Given the description of an element on the screen output the (x, y) to click on. 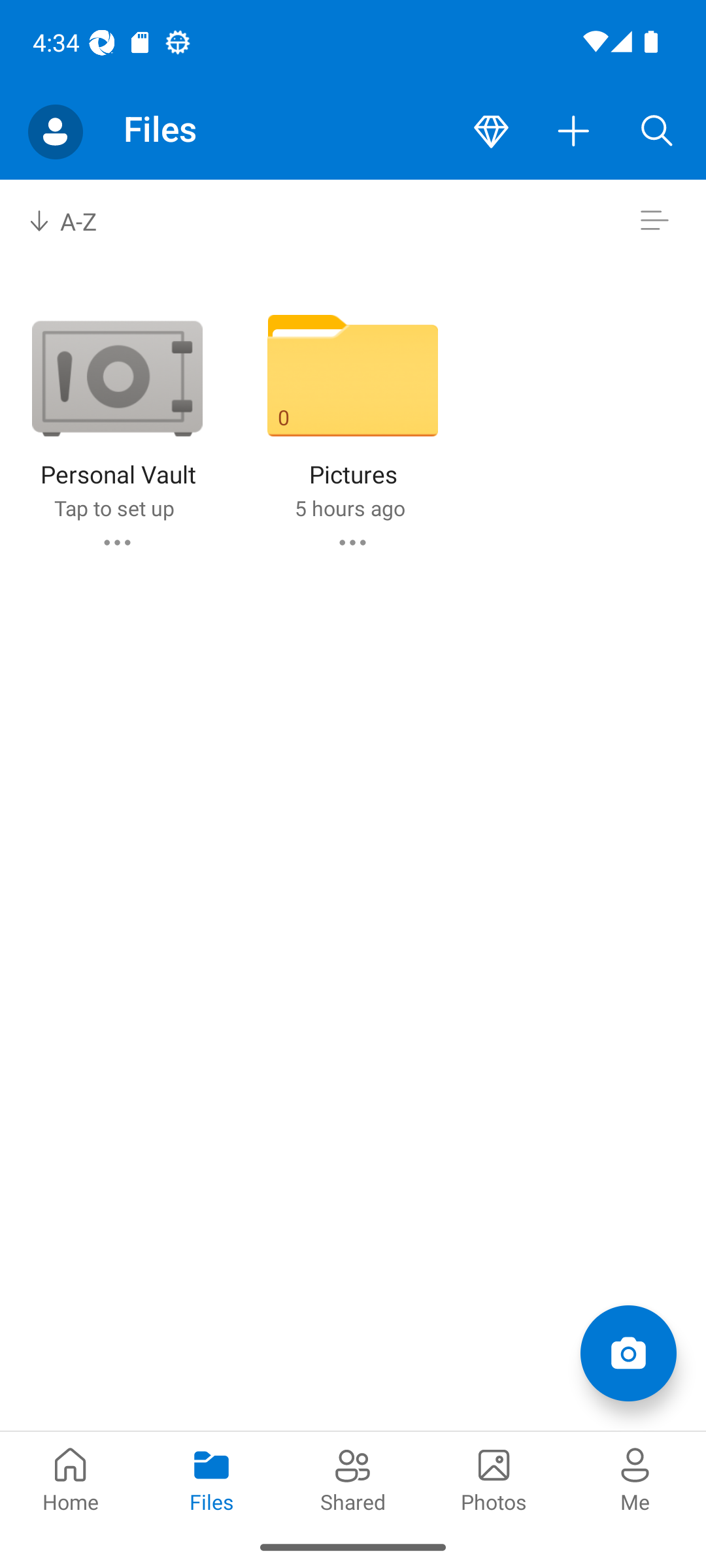
Account switcher (55, 131)
Premium button (491, 131)
More actions button (574, 131)
Search button (656, 131)
A-Z Sort by combo box, sort by name, A to Z (76, 220)
Switch to list view (654, 220)
Tap to set up (113, 507)
5 hours ago (349, 507)
Personal Vault commands (116, 542)
Pictures commands (352, 542)
Add items Scan (628, 1352)
Home pivot Home (70, 1478)
Shared pivot Shared (352, 1478)
Photos pivot Photos (493, 1478)
Me pivot Me (635, 1478)
